Given the description of an element on the screen output the (x, y) to click on. 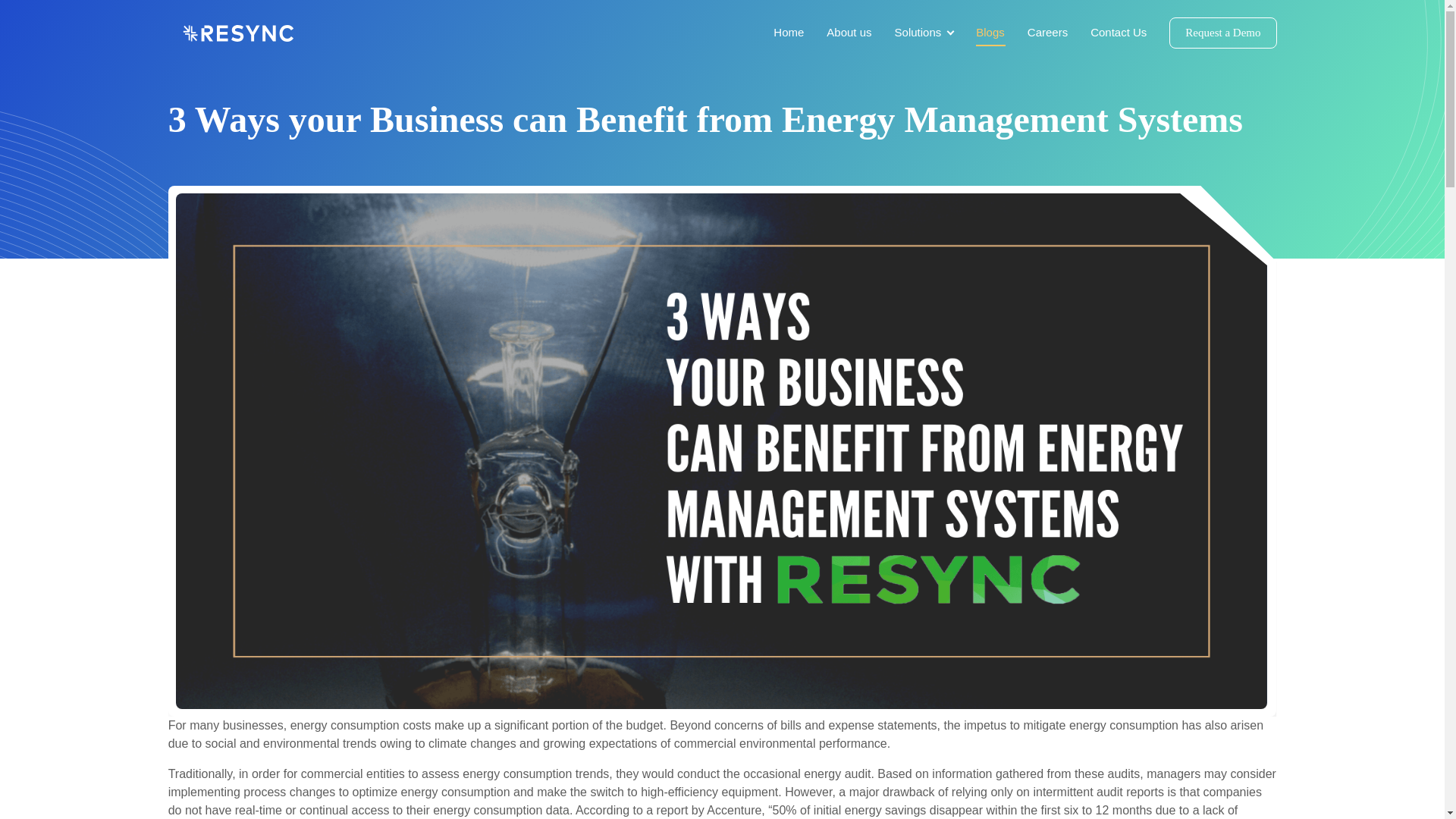
Request a Demo (1222, 32)
About us (860, 32)
Blogs (1001, 32)
Careers (1058, 32)
Contact Us (1129, 32)
Request a Demo (1222, 32)
Solutions (935, 32)
Home (800, 32)
